Given the description of an element on the screen output the (x, y) to click on. 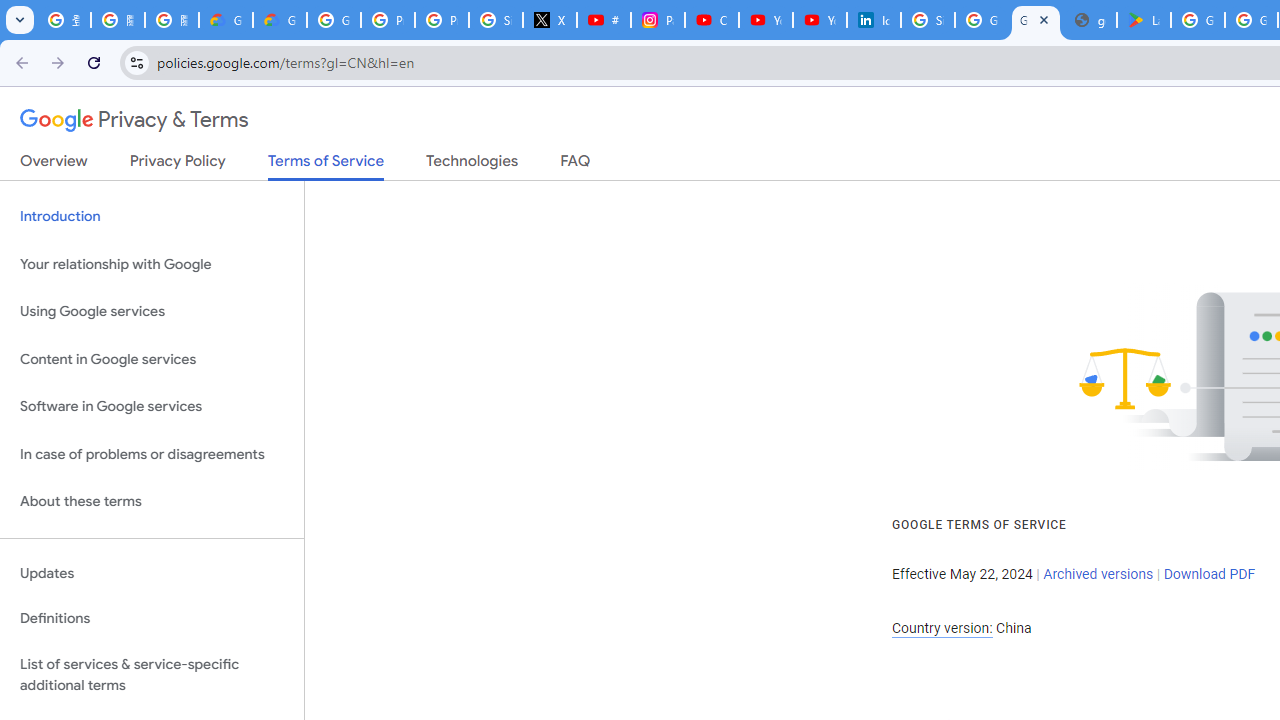
Sign in - Google Accounts (927, 20)
FAQ (575, 165)
Technologies (472, 165)
Your relationship with Google (152, 263)
Definitions (152, 619)
Terms of Service (326, 166)
Back (19, 62)
Forward (57, 62)
Content in Google services (152, 358)
Close (1044, 19)
